Given the description of an element on the screen output the (x, y) to click on. 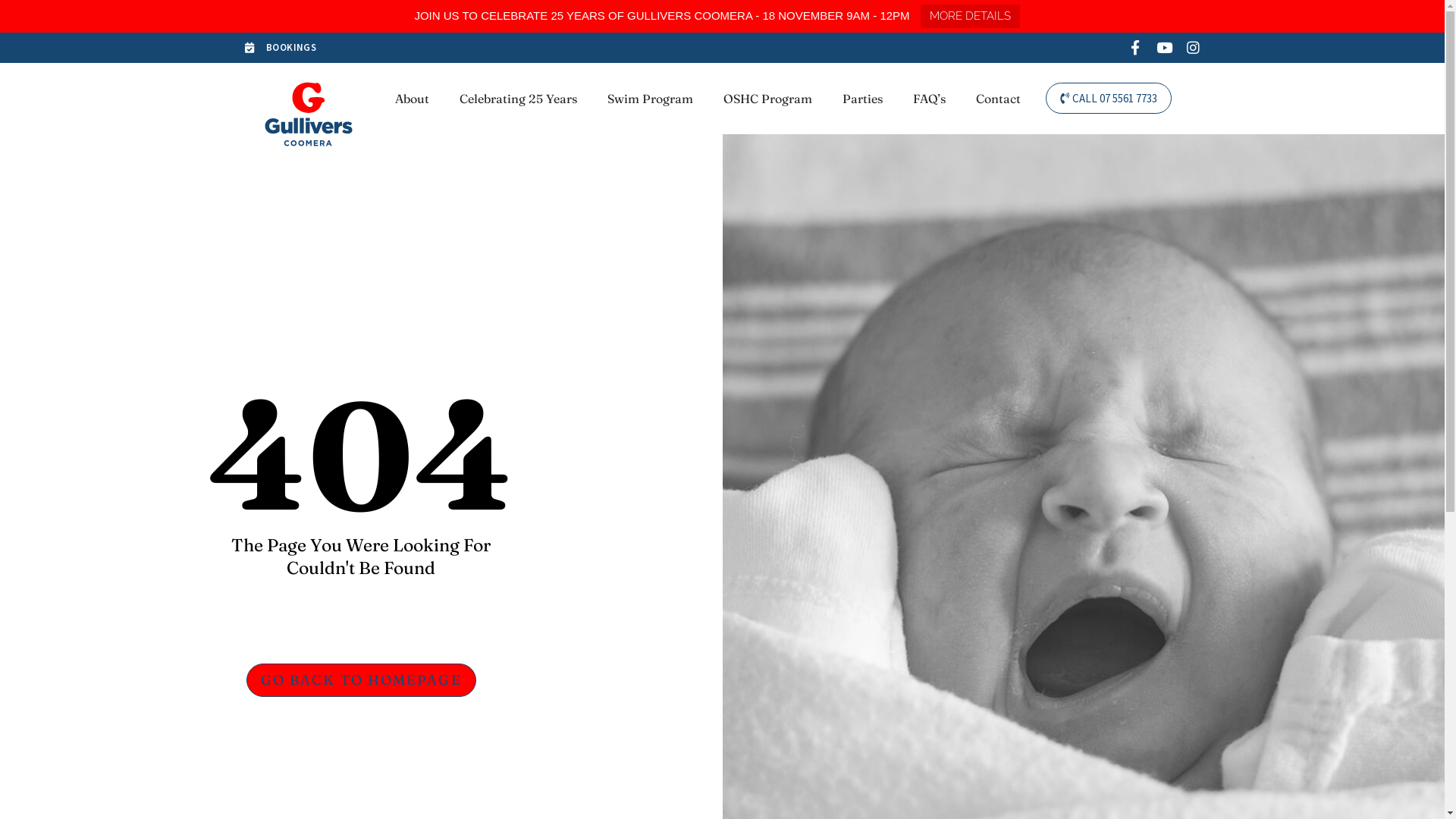
BOOKINGS Element type: text (479, 47)
Contact Element type: text (997, 98)
Celebrating 25 Years Element type: text (518, 98)
CALL 07 5561 7733 Element type: text (1108, 97)
Swim Program Element type: text (650, 98)
Parties Element type: text (862, 98)
About Element type: text (411, 98)
OSHC Program Element type: text (767, 98)
MORE DETAILS Element type: text (969, 16)
GO BACK TO HOMEPAGE Element type: text (361, 679)
